Given the description of an element on the screen output the (x, y) to click on. 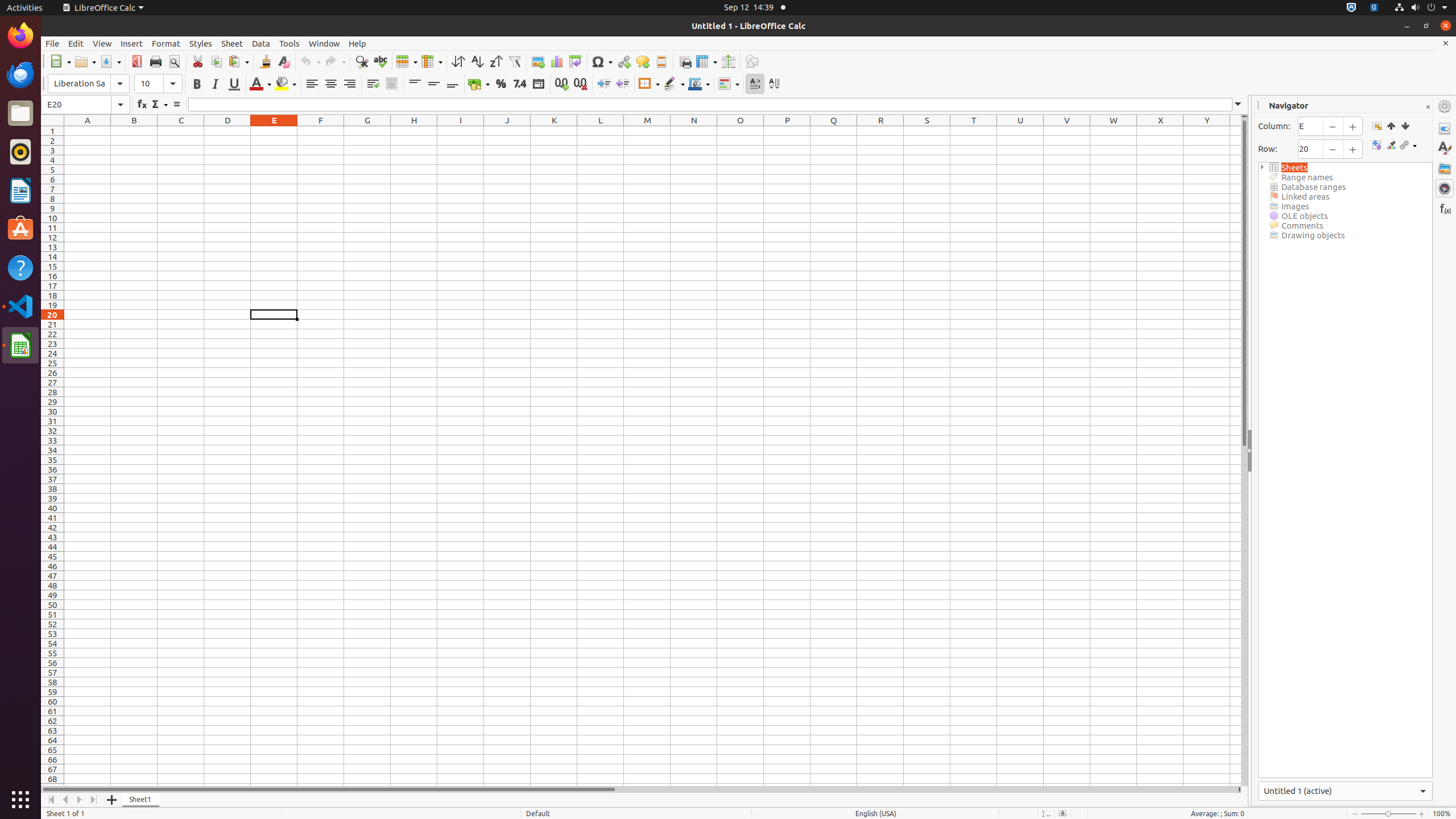
Bold Element type: toggle-button (196, 83)
Horizontal scroll bar Element type: scroll-bar (639, 789)
Text direction from top to bottom Element type: toggle-button (773, 83)
Row Element type: push-button (406, 61)
Files Element type: push-button (20, 113)
